Given the description of an element on the screen output the (x, y) to click on. 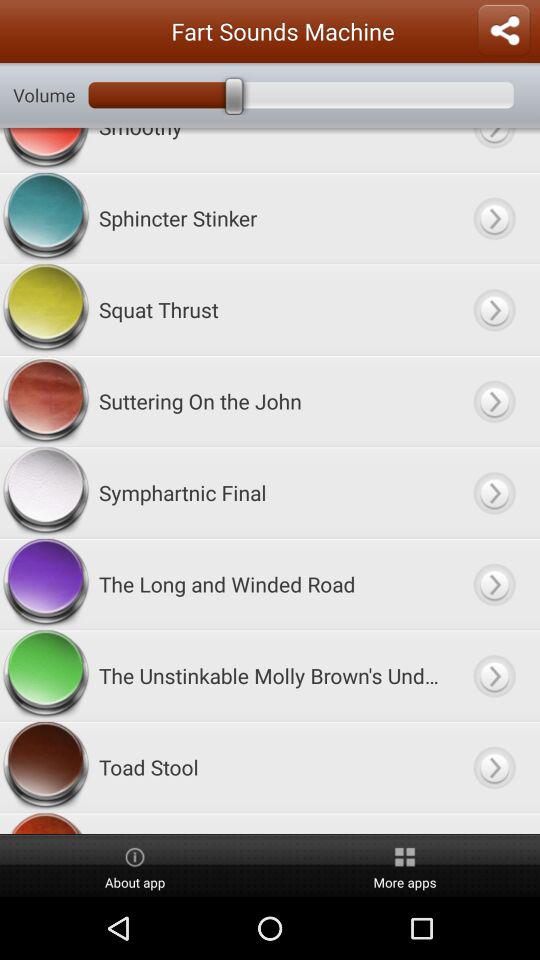
see sound details (494, 309)
